Given the description of an element on the screen output the (x, y) to click on. 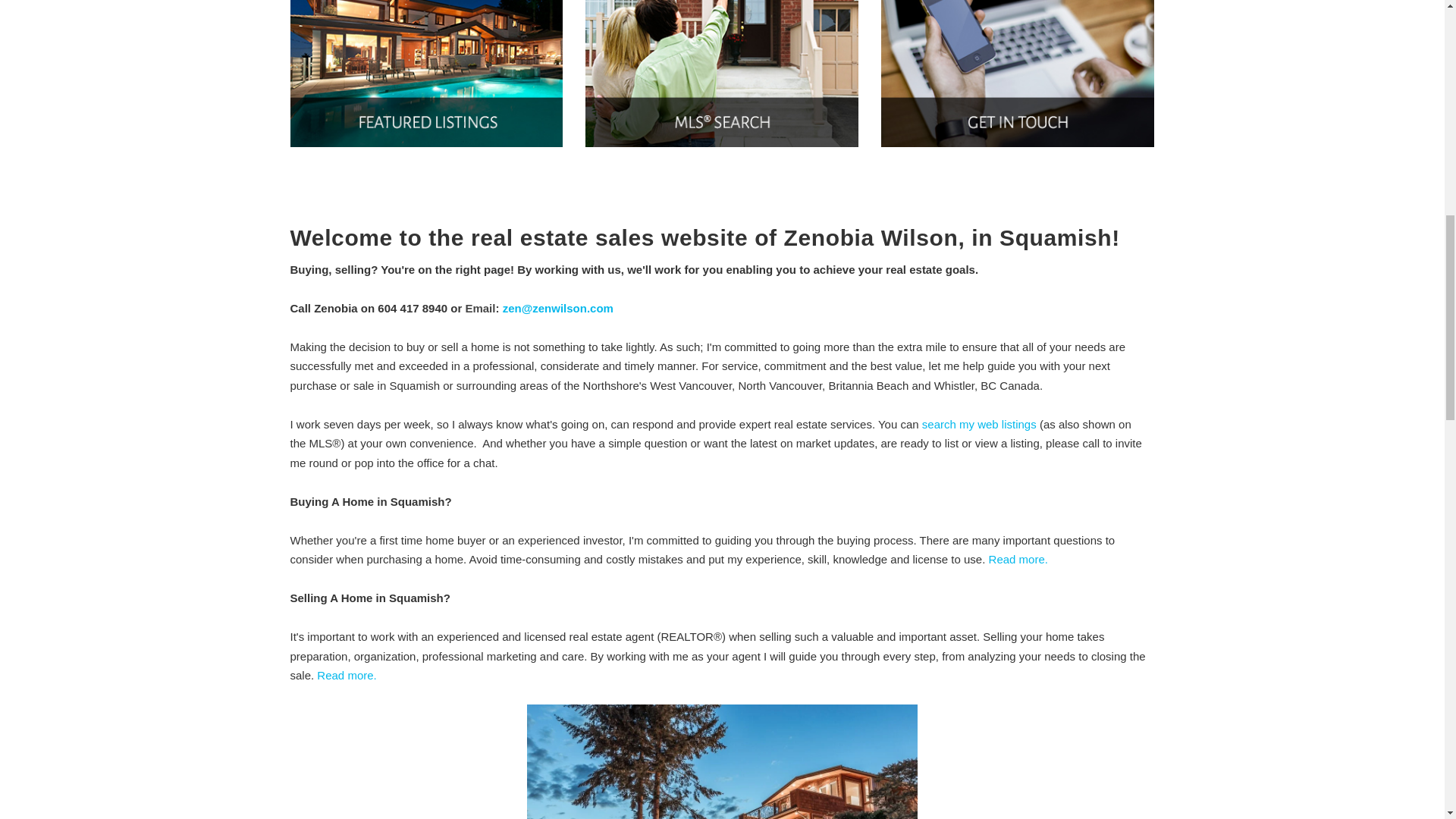
Read more. (345, 675)
Read more. (1018, 558)
search my web listings (978, 423)
